Given the description of an element on the screen output the (x, y) to click on. 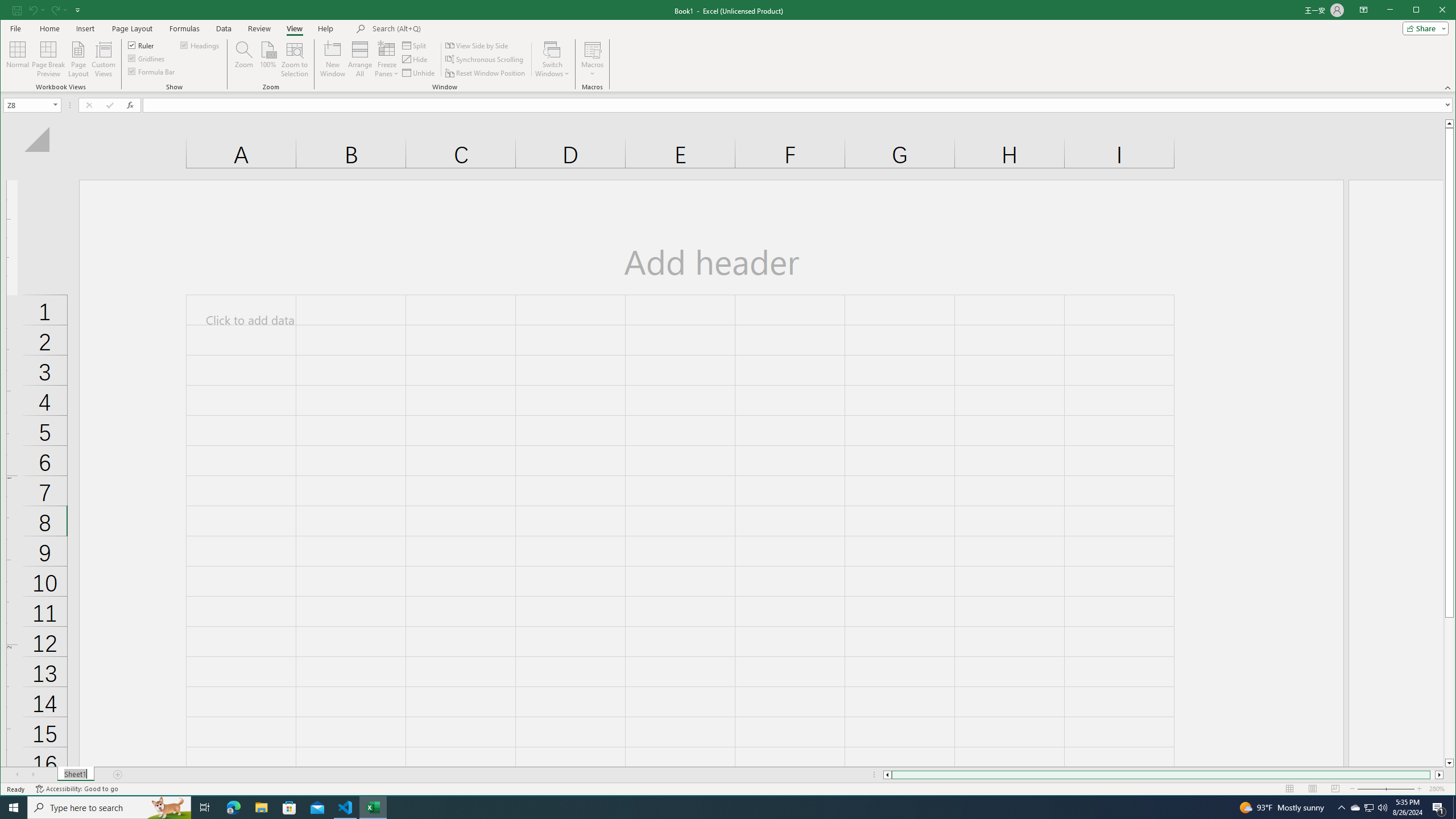
Task View (204, 807)
Reset Window Position (486, 72)
Microsoft Edge (233, 807)
Maximize (1432, 11)
View Side by Side (478, 45)
Microsoft Store (289, 807)
